Given the description of an element on the screen output the (x, y) to click on. 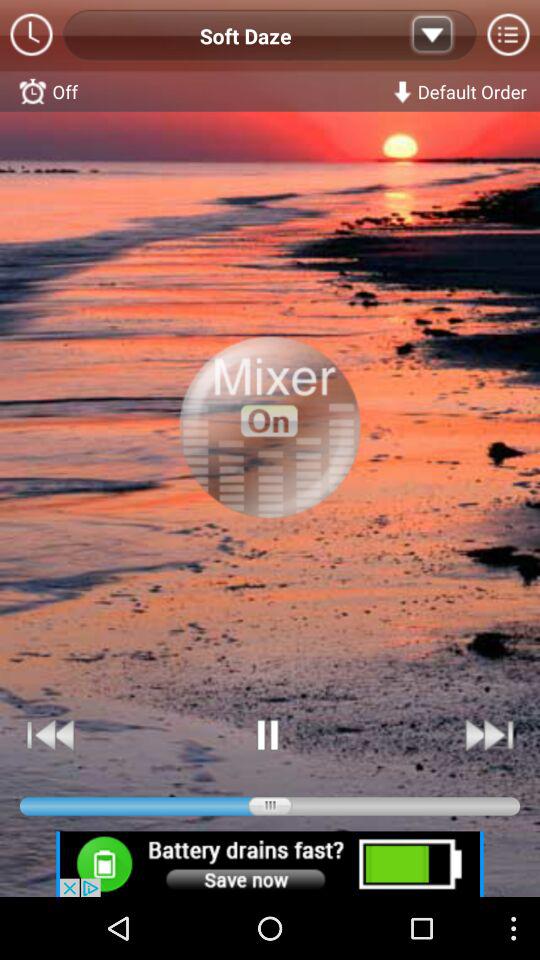
play previous song/tone/track (51, 734)
